Given the description of an element on the screen output the (x, y) to click on. 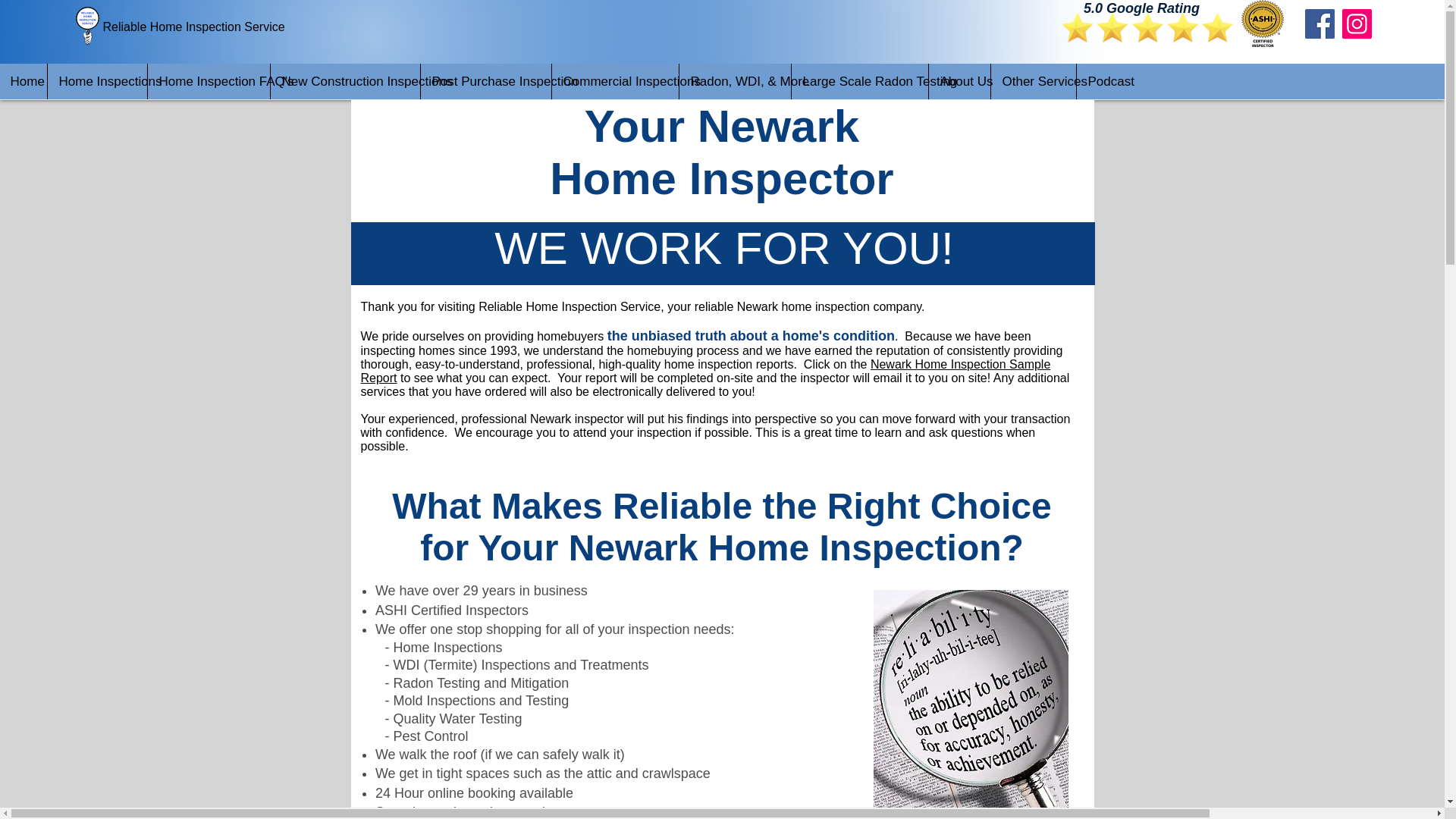
Newark Home Inspection Sample Report (706, 370)
Home (23, 81)
Post Purchase Inspection (485, 81)
Podcast (1103, 81)
New Construction Inspections (344, 81)
Large Scale Radon Testing (858, 81)
Home Inspection FAQ's (208, 81)
5.0 Google Rating (1141, 7)
